Given the description of an element on the screen output the (x, y) to click on. 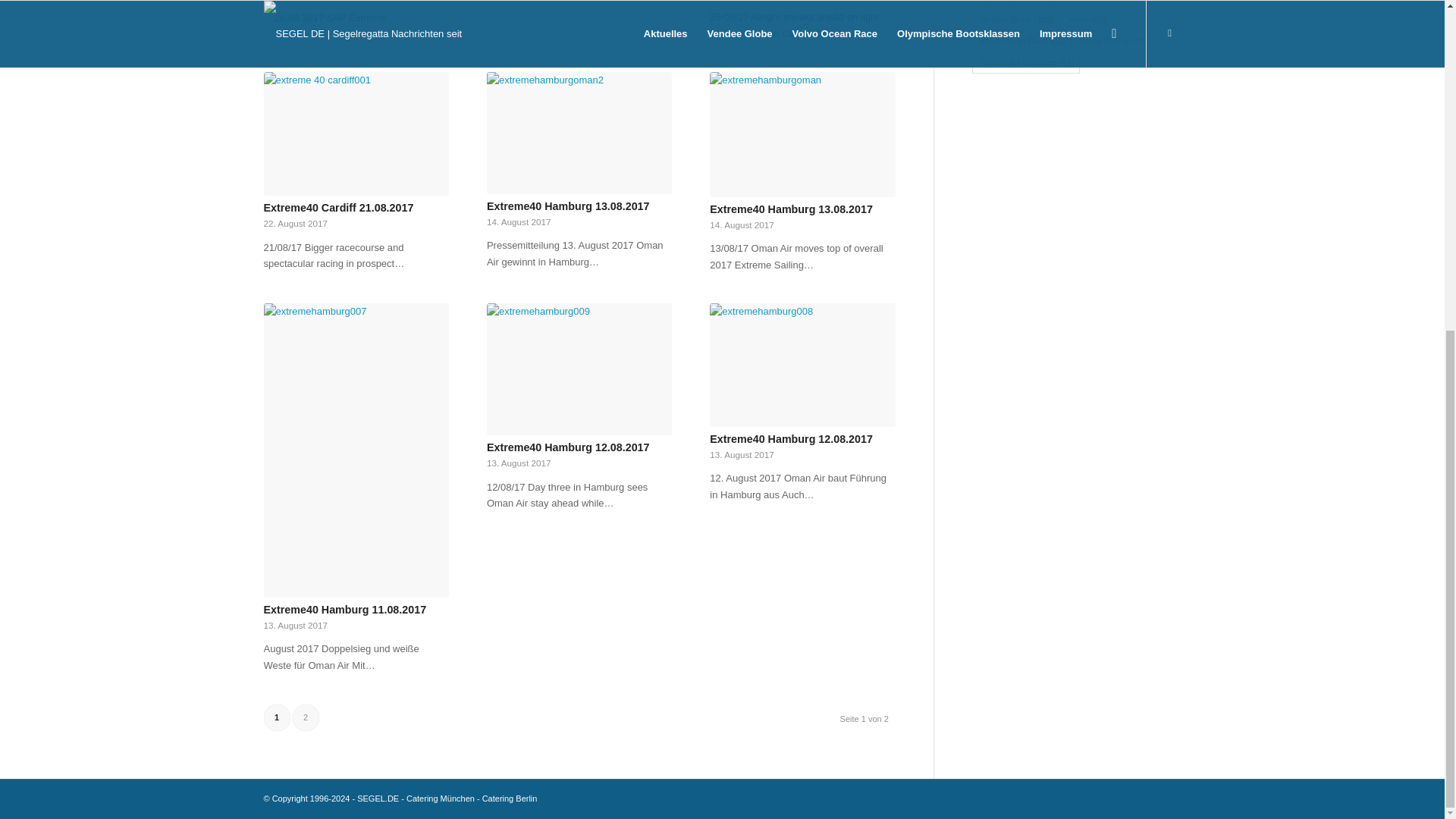
Extreme40 Hamburg 13.08.2017 (791, 209)
2 (305, 717)
Extreme40 Hamburg 12.08.2017 (791, 439)
Extreme40 Hamburg 13.08.2017 (567, 205)
Extreme40 Cardiff 21.08.2017 (338, 207)
Extreme40 Hamburg 11.08.2017 (344, 609)
Extreme40 Hamburg 12.08.2017 (567, 447)
